Given the description of an element on the screen output the (x, y) to click on. 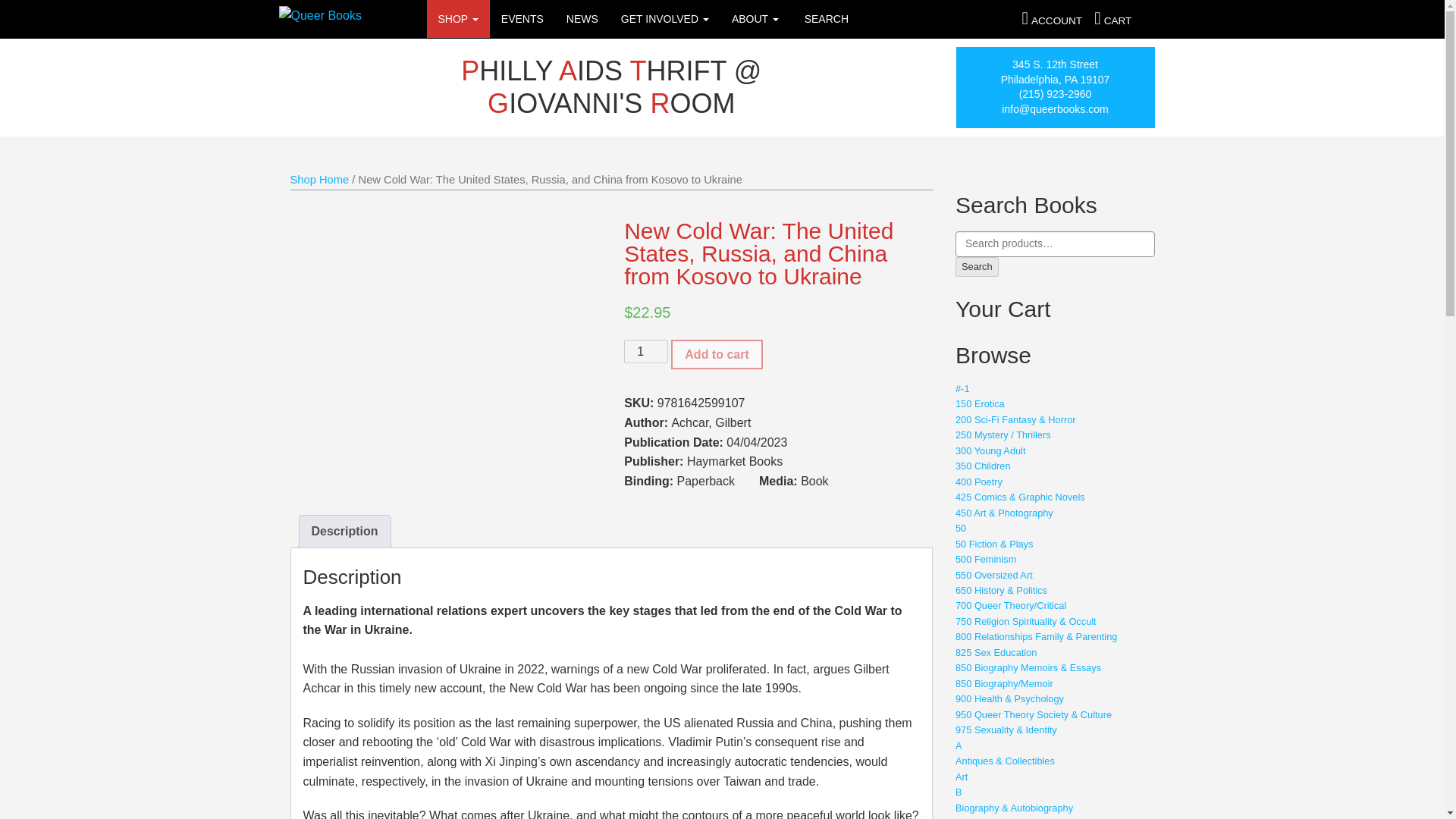
ACCOUNT (1051, 19)
Events (521, 18)
Shop Home (319, 179)
Add to cart (716, 354)
Get Involved (665, 18)
 SEARCH (825, 18)
300 Young Adult (990, 450)
SHOP (457, 18)
CART (1110, 19)
150 Erotica (979, 403)
